Given the description of an element on the screen output the (x, y) to click on. 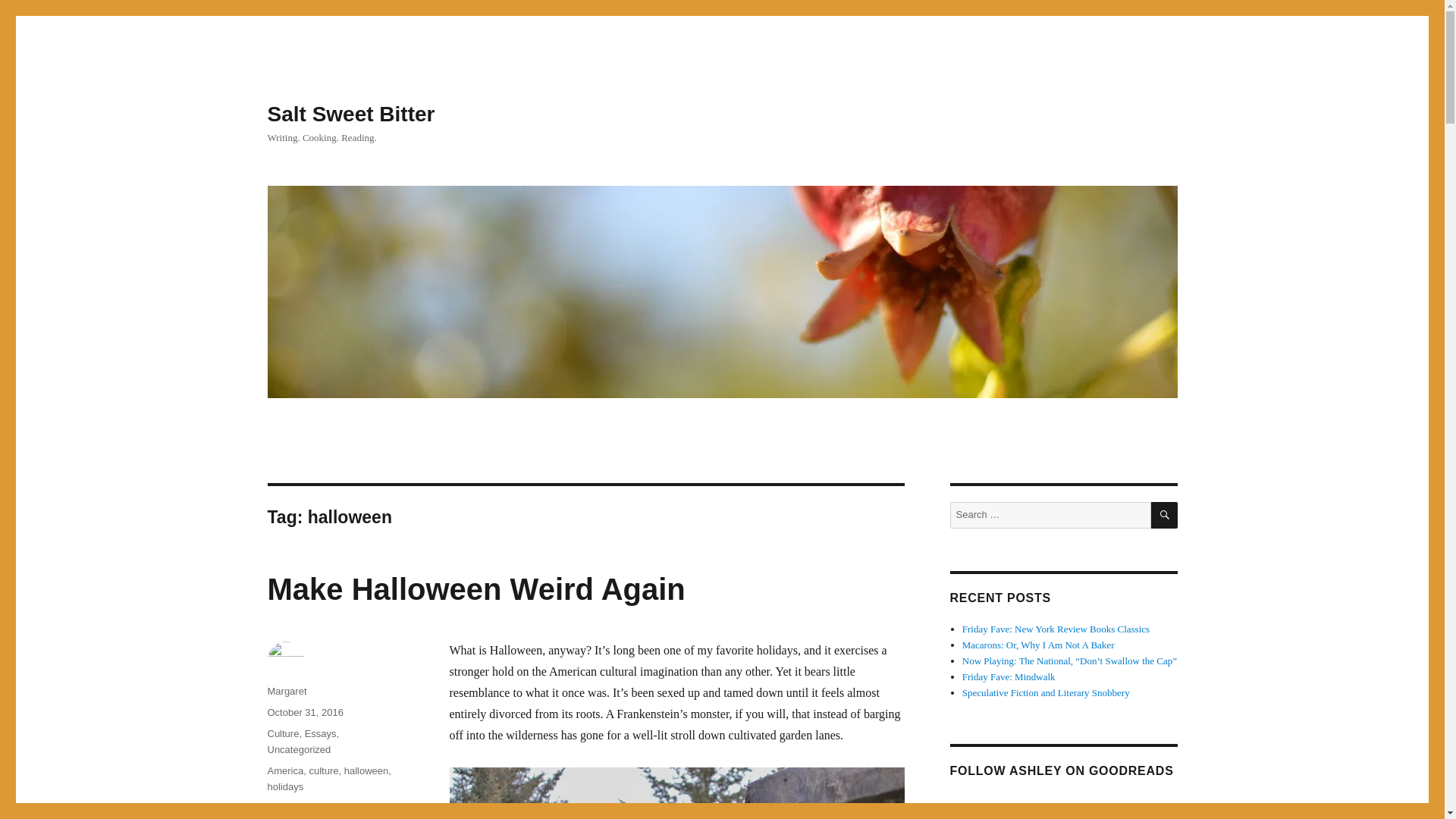
Make Halloween Weird Again (475, 589)
America (284, 770)
Culture (282, 733)
holidays (305, 808)
Uncategorized (284, 786)
culture (298, 749)
October 31, 2016 (322, 770)
halloween (304, 712)
Margaret (365, 770)
